Given the description of an element on the screen output the (x, y) to click on. 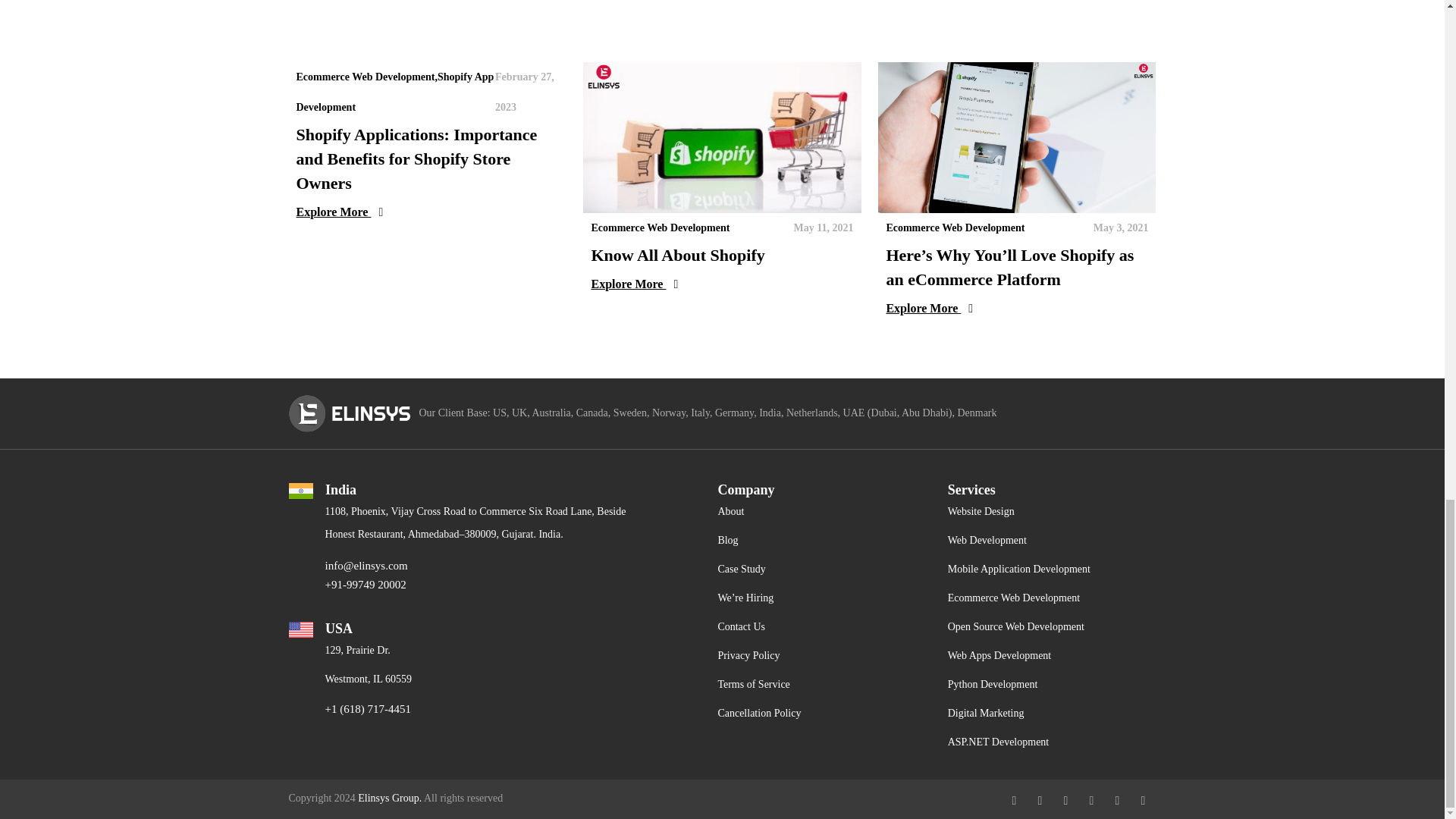
Explore More (722, 284)
Blog (727, 540)
Explore More (426, 212)
About (730, 511)
Explore More (1016, 308)
Case Study (741, 568)
